Given the description of an element on the screen output the (x, y) to click on. 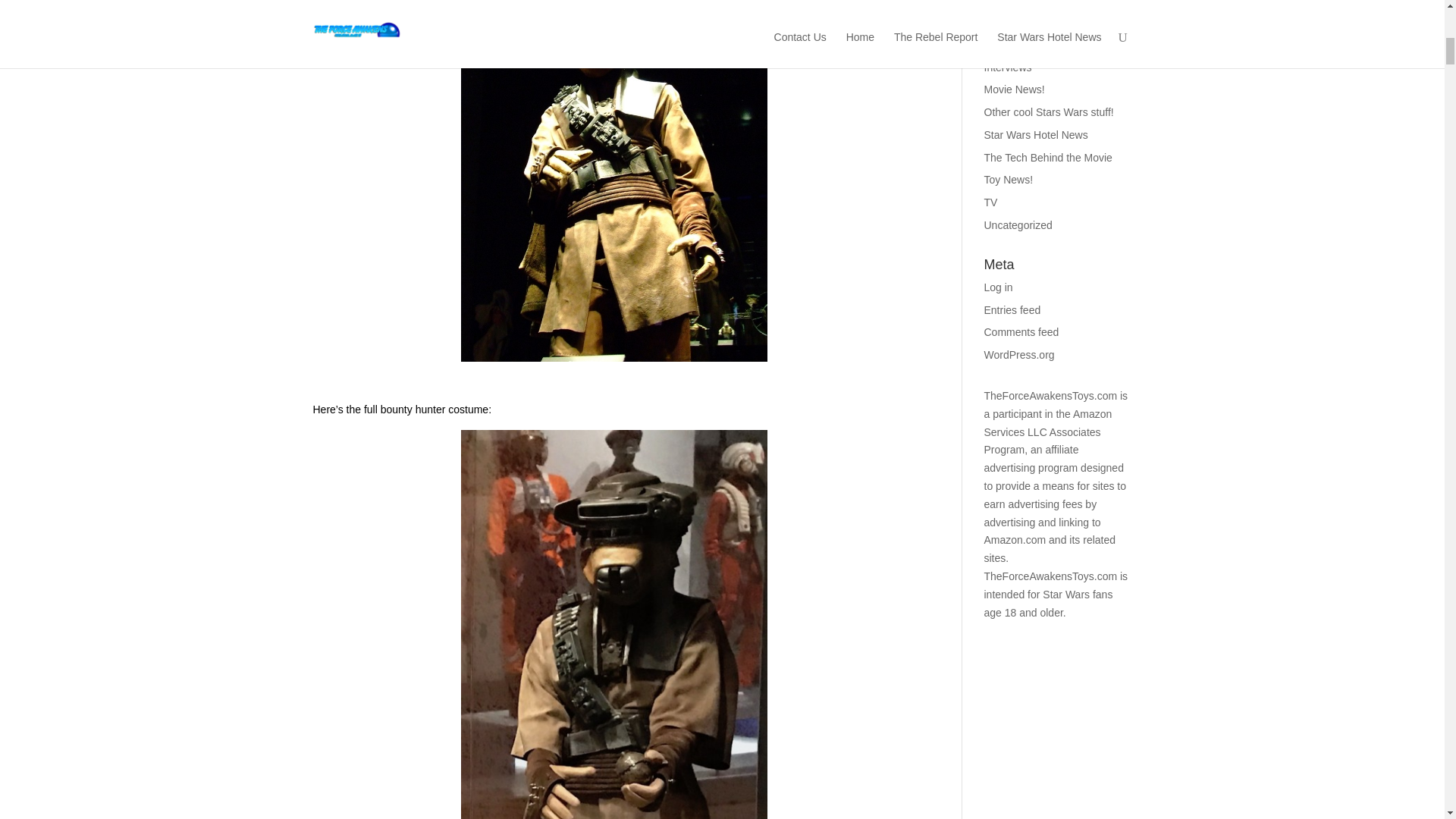
The Tech Behind the Movie (1048, 157)
The latest toy news on the Force Awakens! (1008, 179)
Interviews (1008, 66)
Other cool Star Wars-related stuff! (1048, 111)
News of new movie characters (1014, 89)
